Given the description of an element on the screen output the (x, y) to click on. 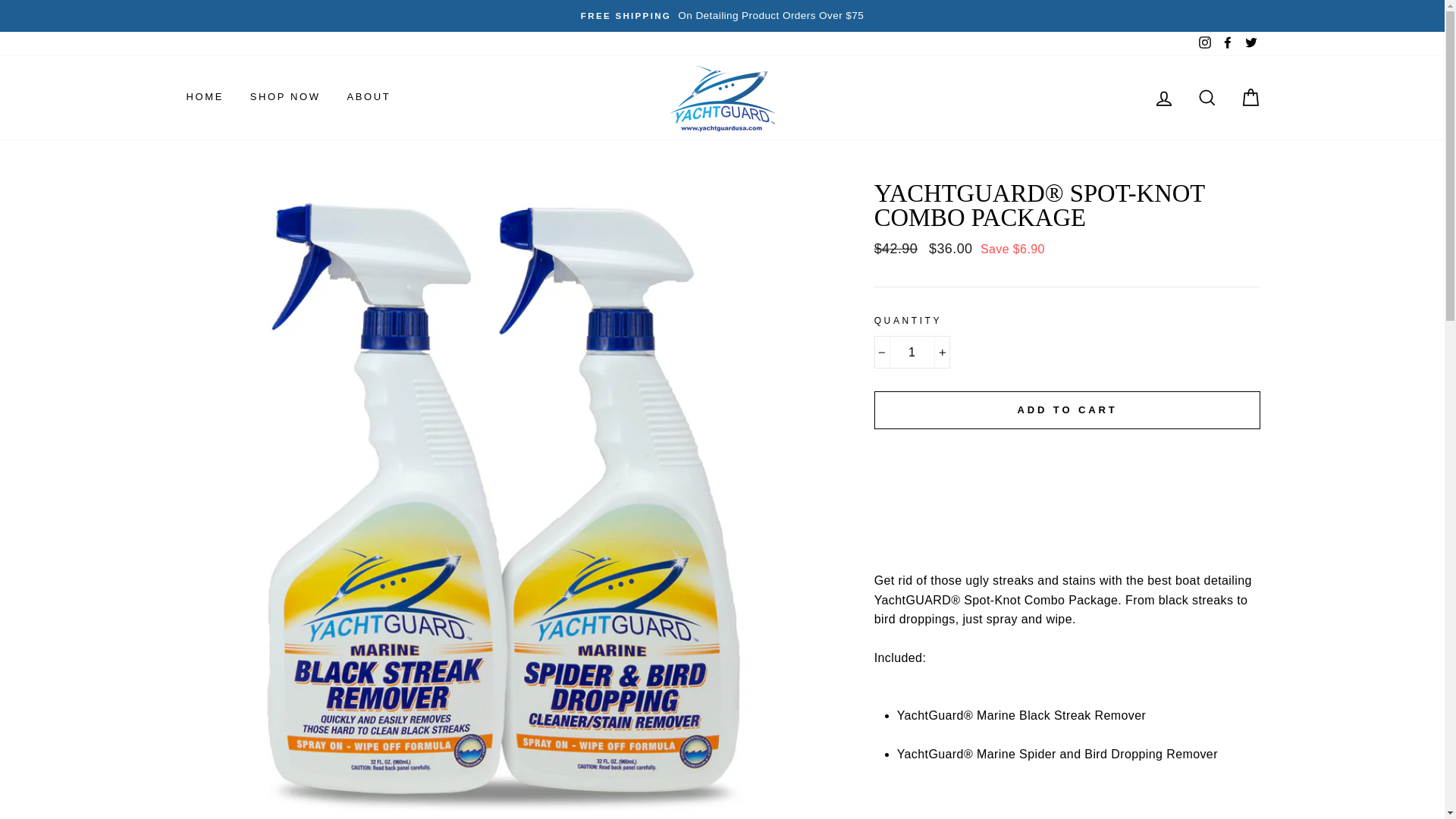
SEARCH (1207, 97)
1 (912, 352)
LOG IN (1163, 97)
CART (1249, 97)
ABOUT (367, 97)
HOME (204, 97)
SHOP NOW (284, 97)
